Given the description of an element on the screen output the (x, y) to click on. 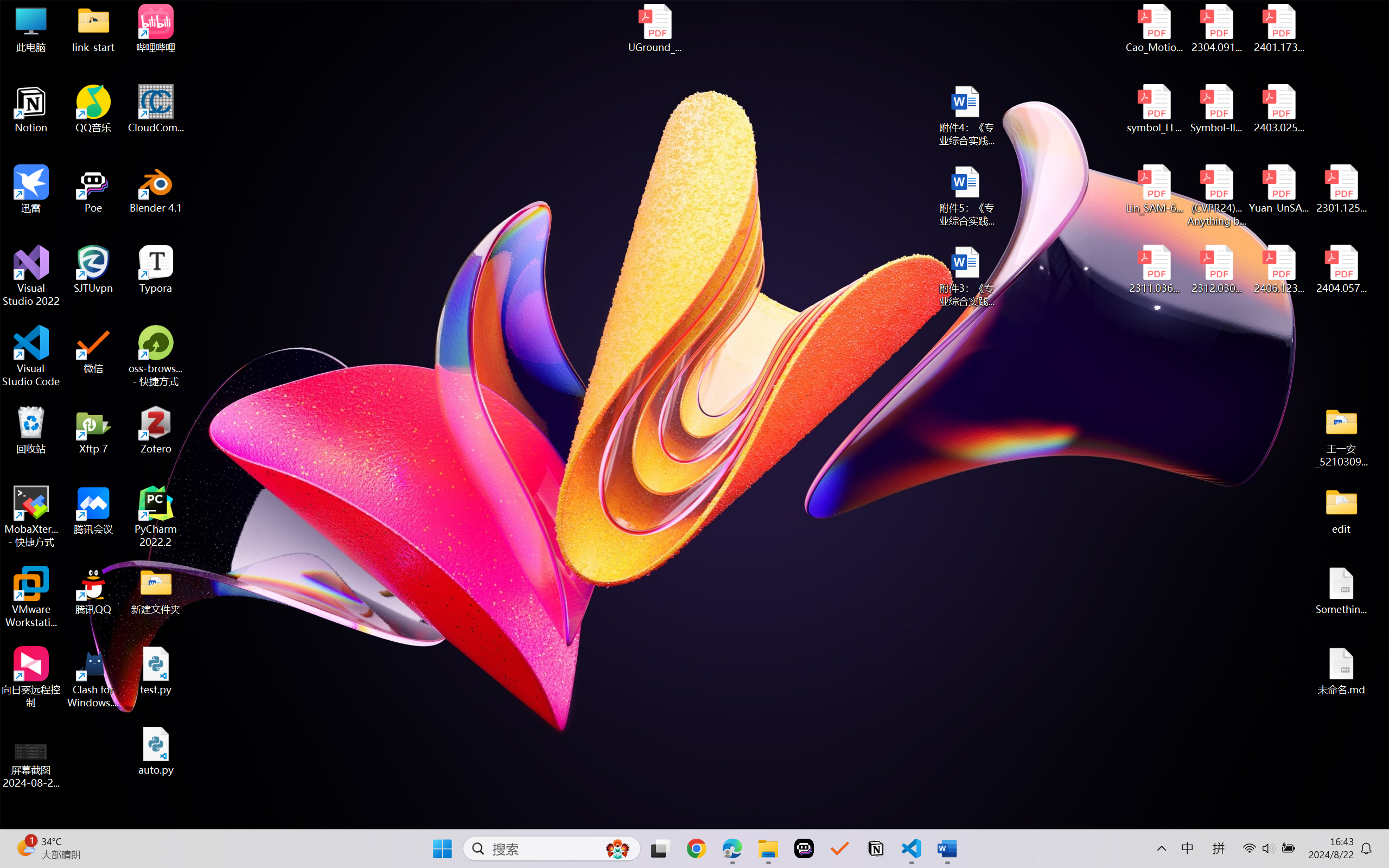
2406.12373v2.pdf (1278, 269)
2401.17399v1.pdf (1278, 28)
Visual Studio Code (31, 355)
(CVPR24)Matching Anything by Segmenting Anything.pdf (1216, 195)
Visual Studio 2022 (31, 276)
